Given the description of an element on the screen output the (x, y) to click on. 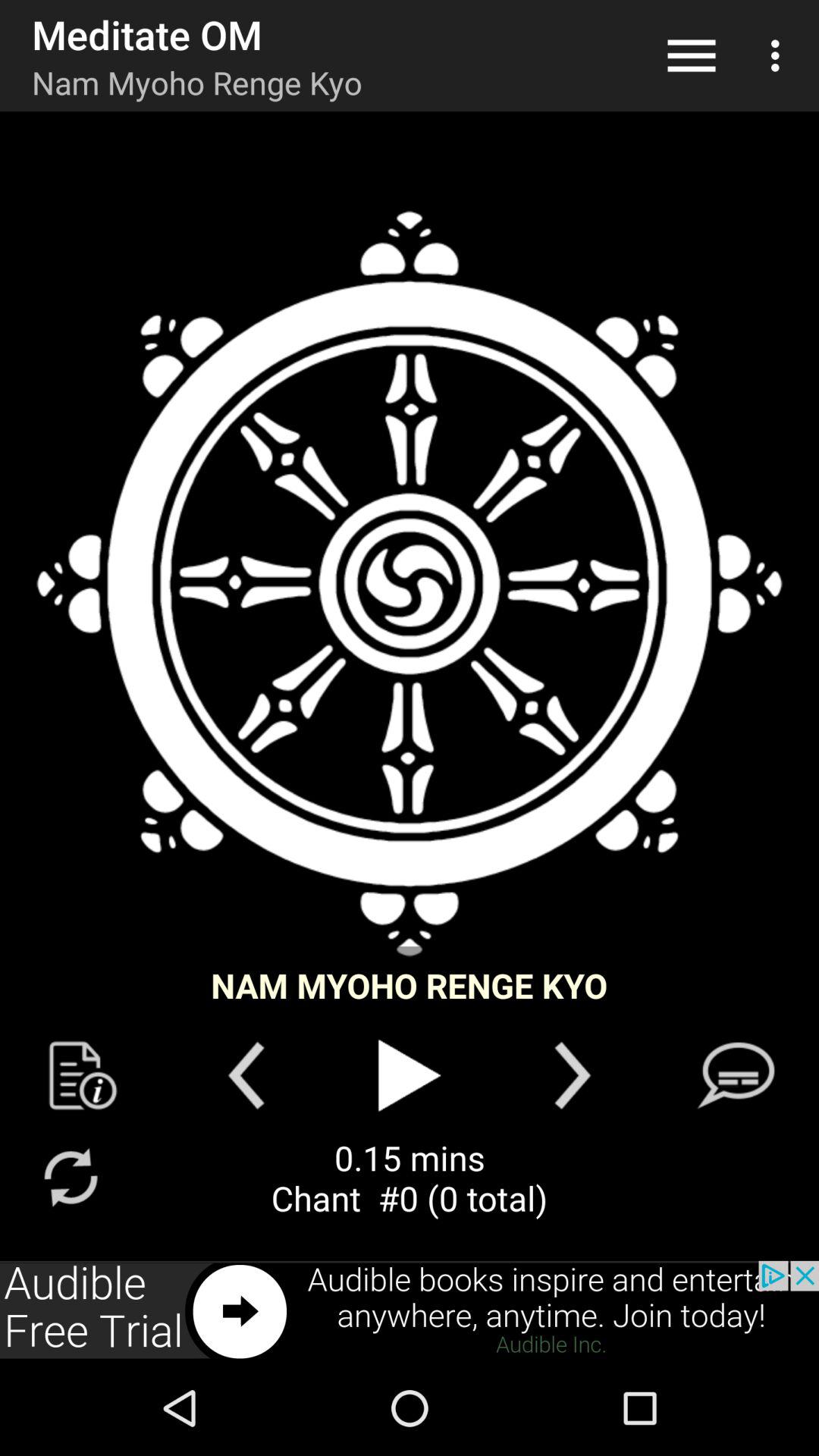
advance forward (572, 1075)
